Given the description of an element on the screen output the (x, y) to click on. 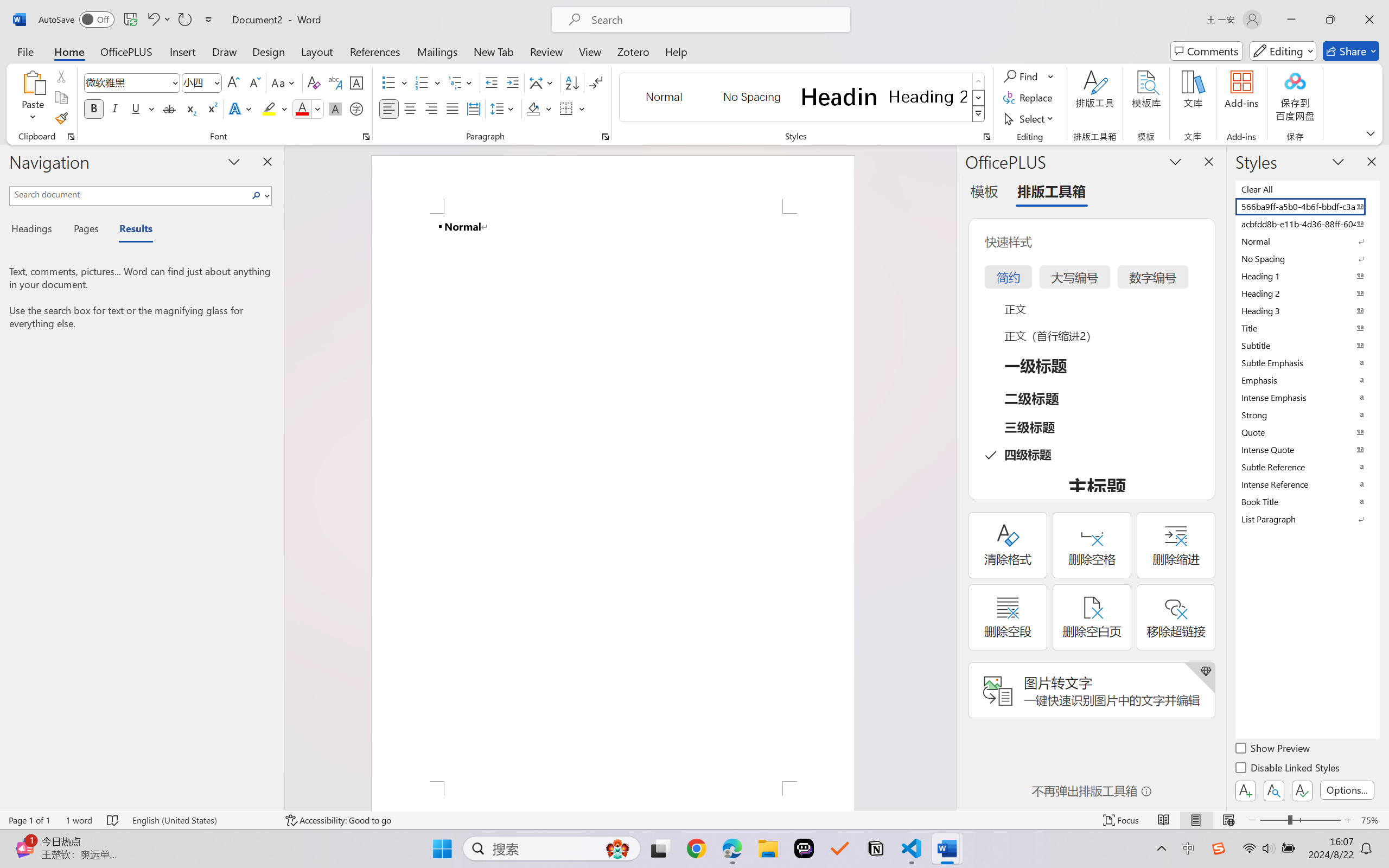
Emphasis (1306, 379)
Page 1 content (612, 497)
Read Mode (1163, 819)
Help (675, 51)
Minimize (1291, 19)
Sort... (571, 82)
AutomationID: DynamicSearchBoxGleamImage (617, 848)
Quick Access Toolbar (127, 19)
Subtle Emphasis (1306, 362)
Grow Font (233, 82)
Justify (452, 108)
Home (69, 51)
Find (1022, 75)
Paste (33, 97)
